Given the description of an element on the screen output the (x, y) to click on. 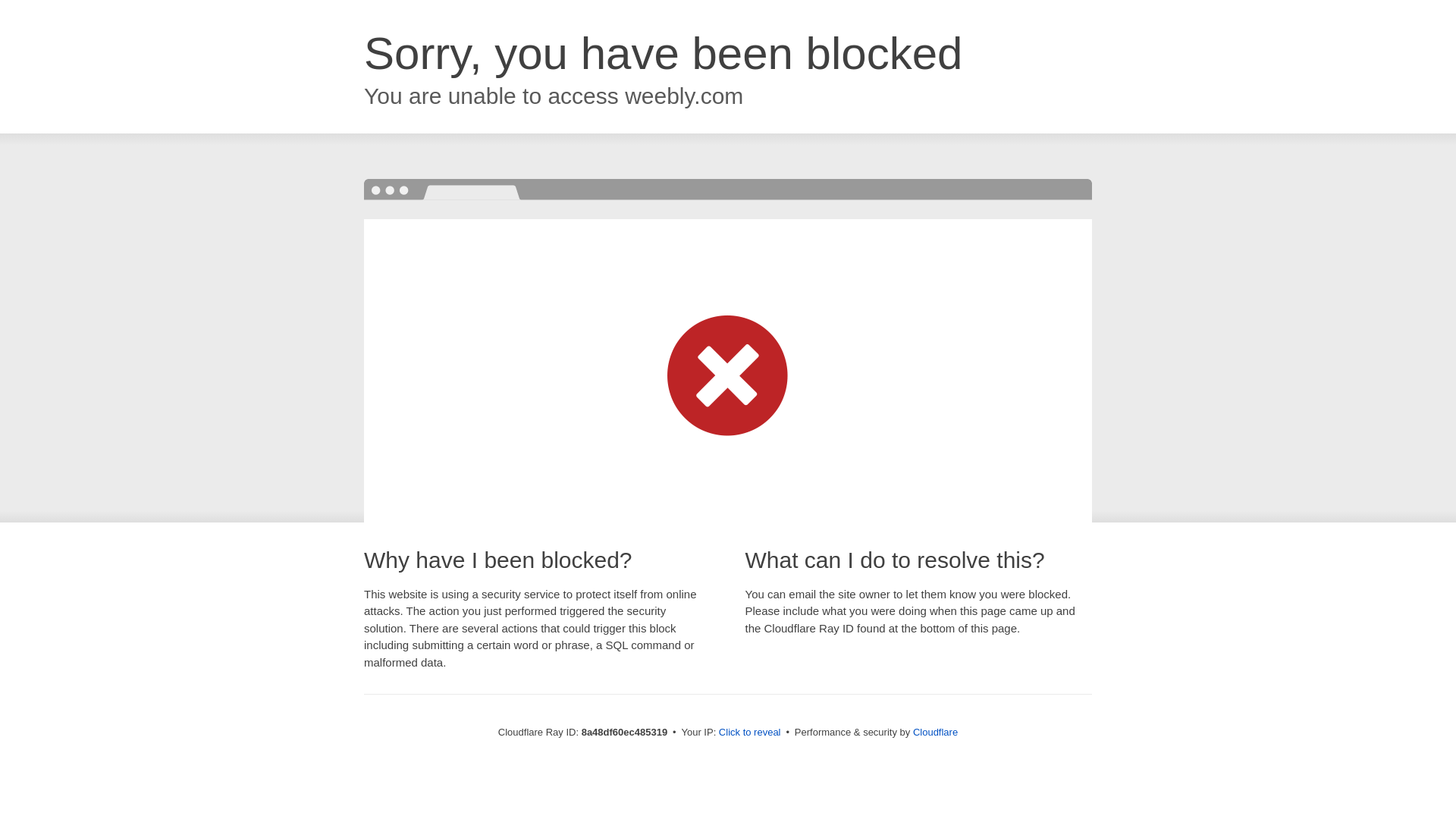
Click to reveal (749, 732)
Cloudflare (935, 731)
